Given the description of an element on the screen output the (x, y) to click on. 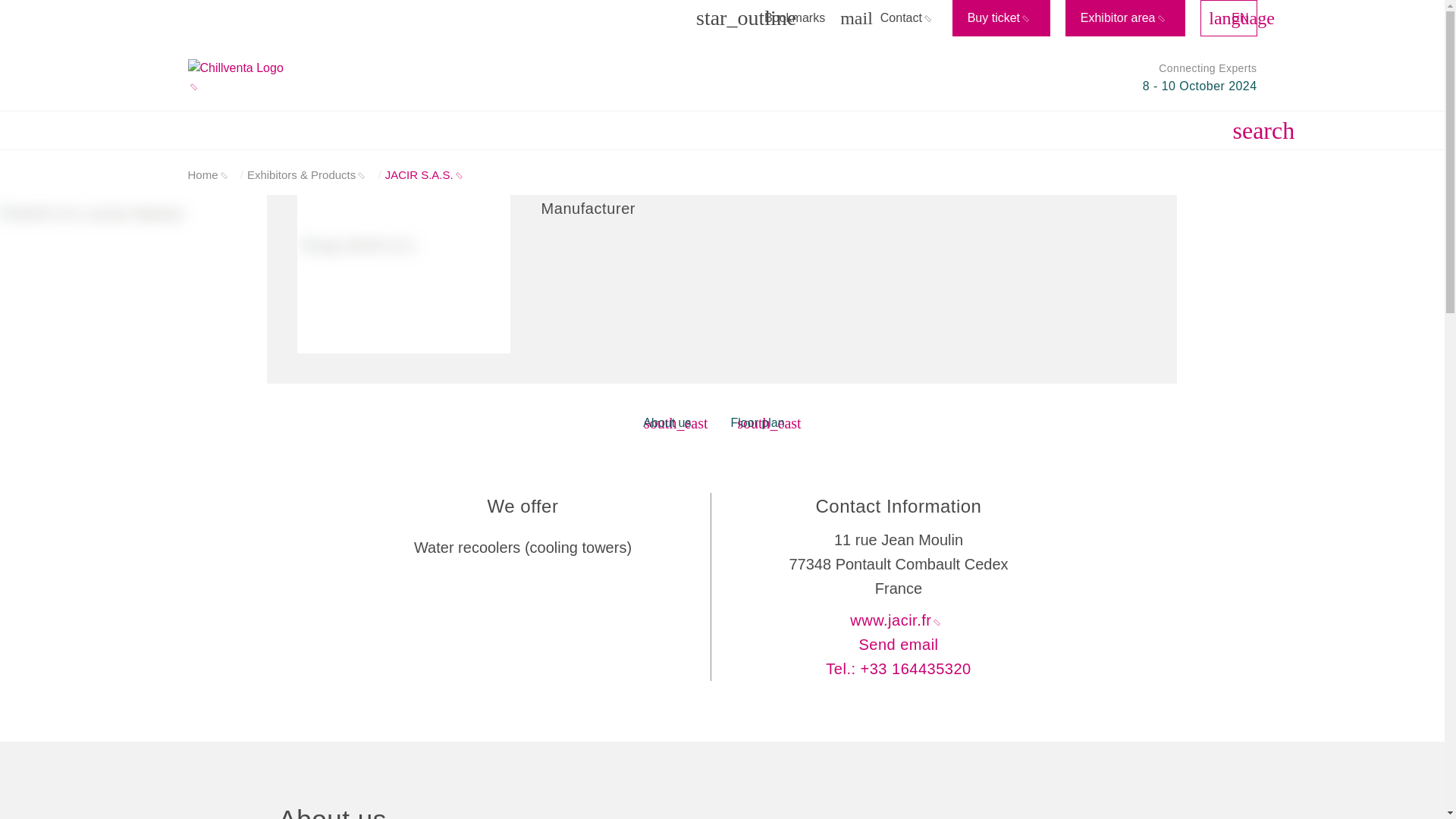
Exhibitor area (1125, 17)
Buy ticket (1000, 17)
Contact (896, 18)
